Given the description of an element on the screen output the (x, y) to click on. 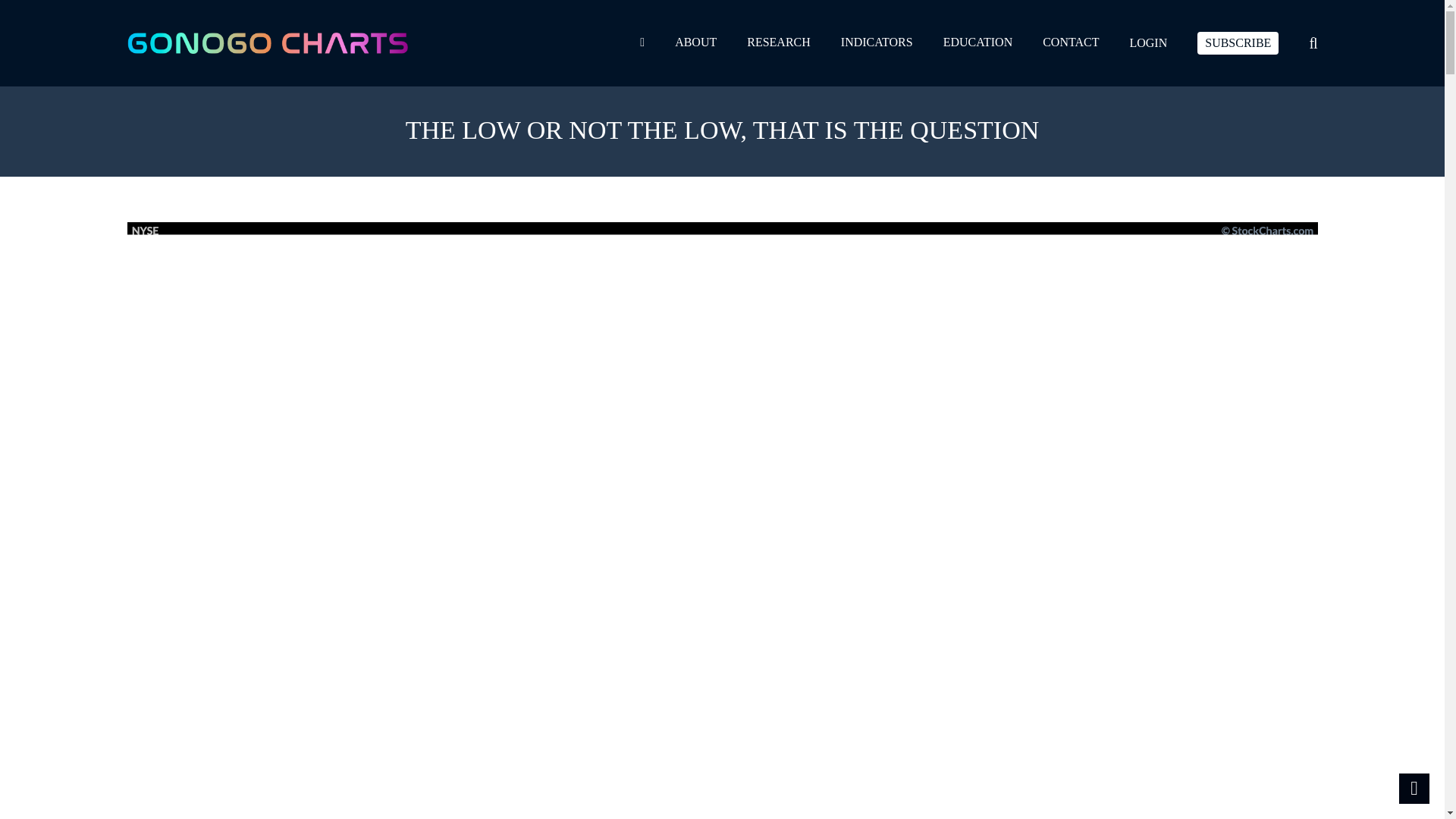
LOGIN (1148, 43)
CONTACT (1070, 42)
ABOUT (695, 42)
SUBSCRIBE (1237, 42)
RESEARCH (778, 42)
INDICATORS (876, 42)
EDUCATION (978, 42)
